Given the description of an element on the screen output the (x, y) to click on. 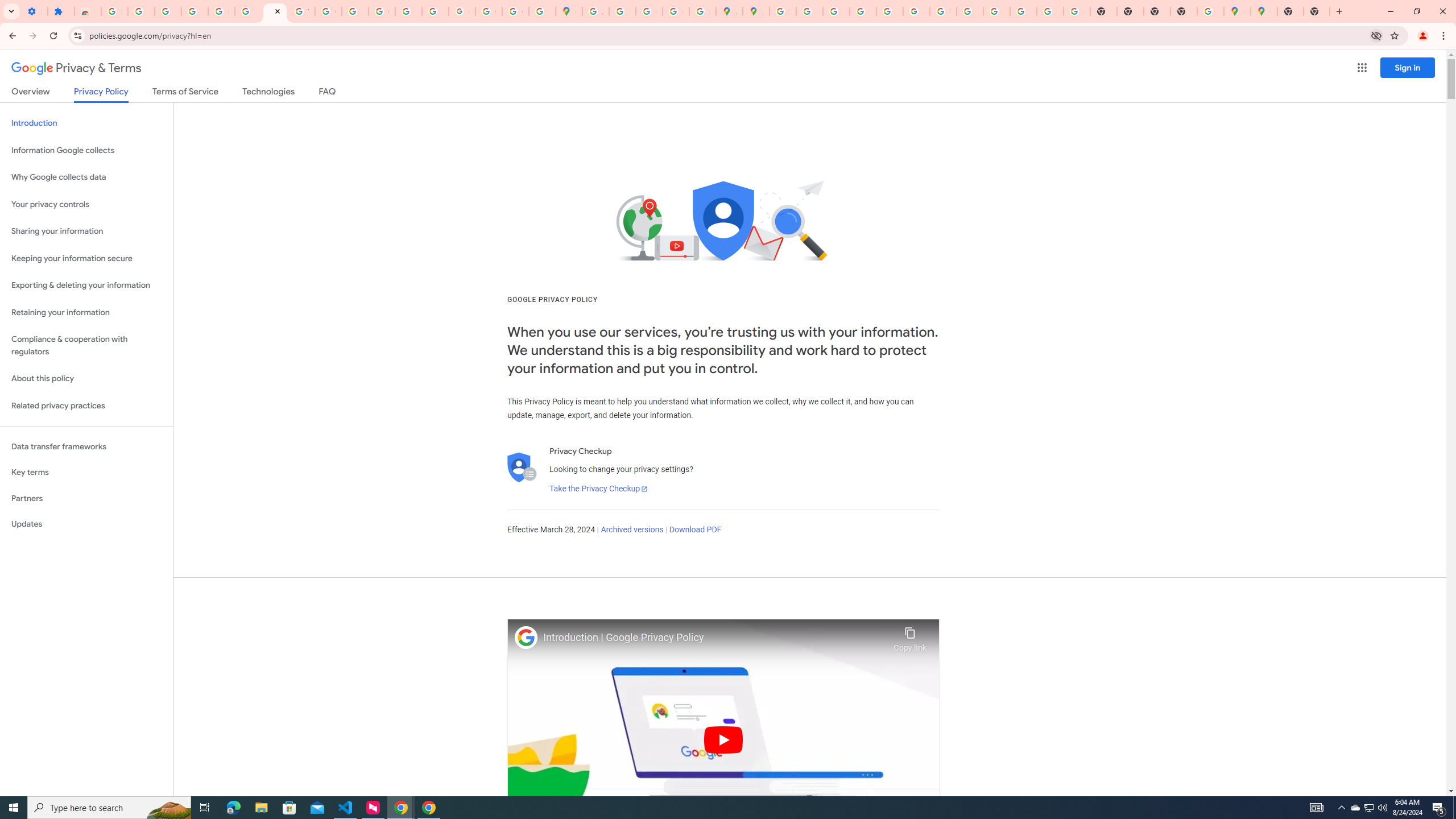
Use Google Maps in Space - Google Maps Help (1210, 11)
Take the Privacy Checkup (597, 488)
Copy link (909, 636)
New Tab (1290, 11)
Play (723, 739)
